Given the description of an element on the screen output the (x, y) to click on. 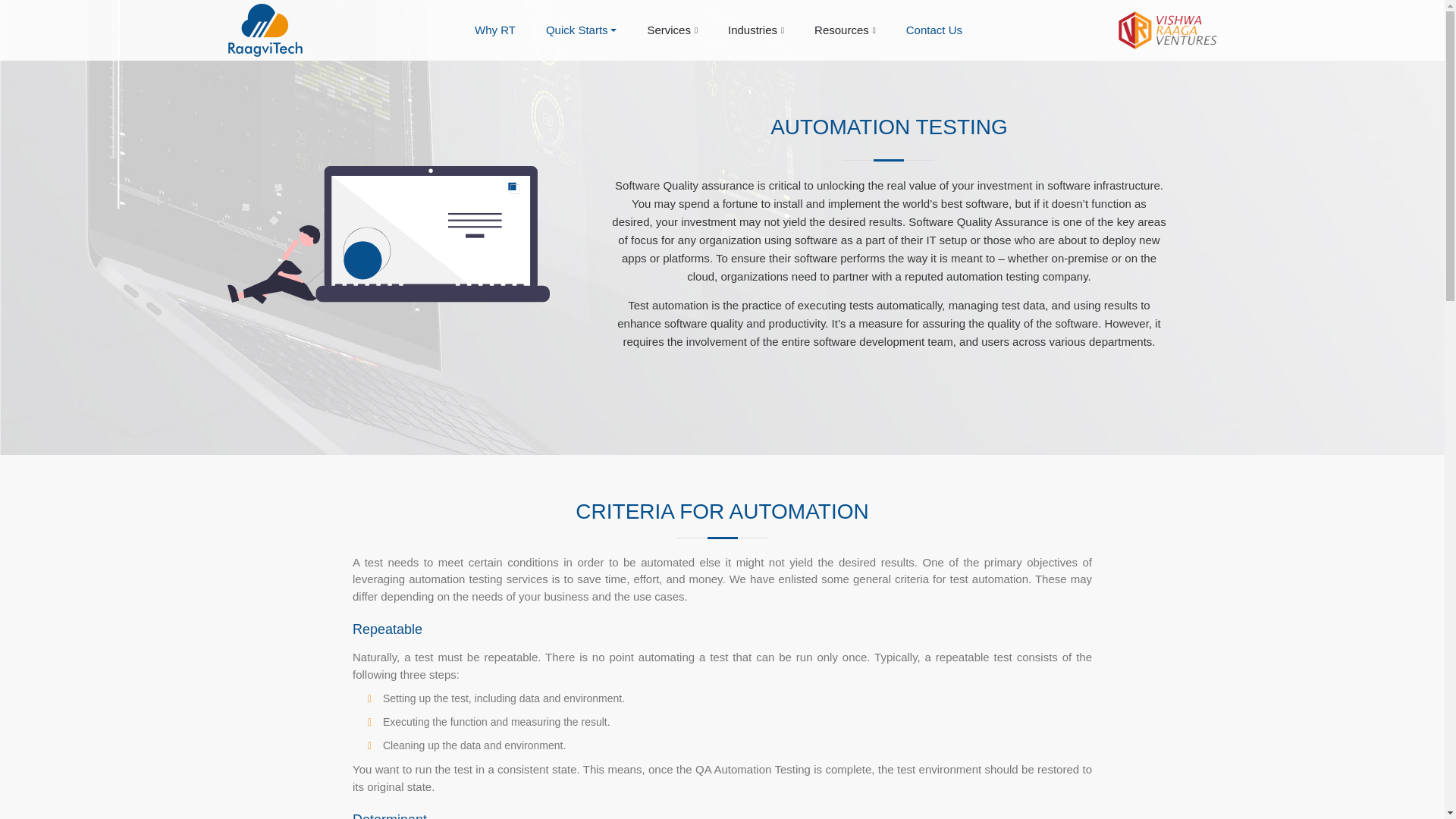
Why RT (486, 30)
Services (664, 30)
Vishwa Raaga Ventures (1167, 28)
Quick Starts (573, 30)
RaagviTech (264, 28)
